Given the description of an element on the screen output the (x, y) to click on. 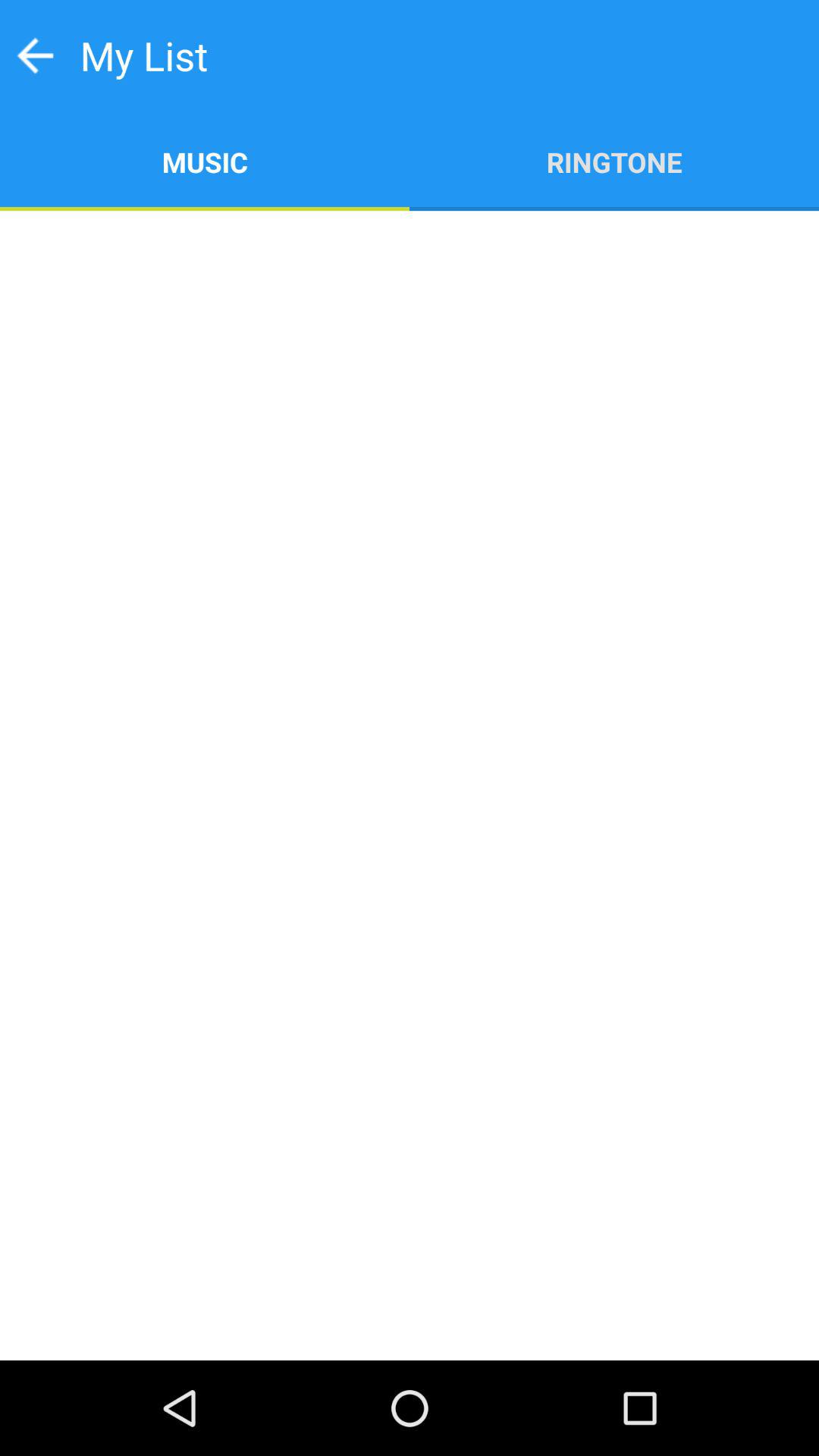
launch app at the top right corner (614, 161)
